Given the description of an element on the screen output the (x, y) to click on. 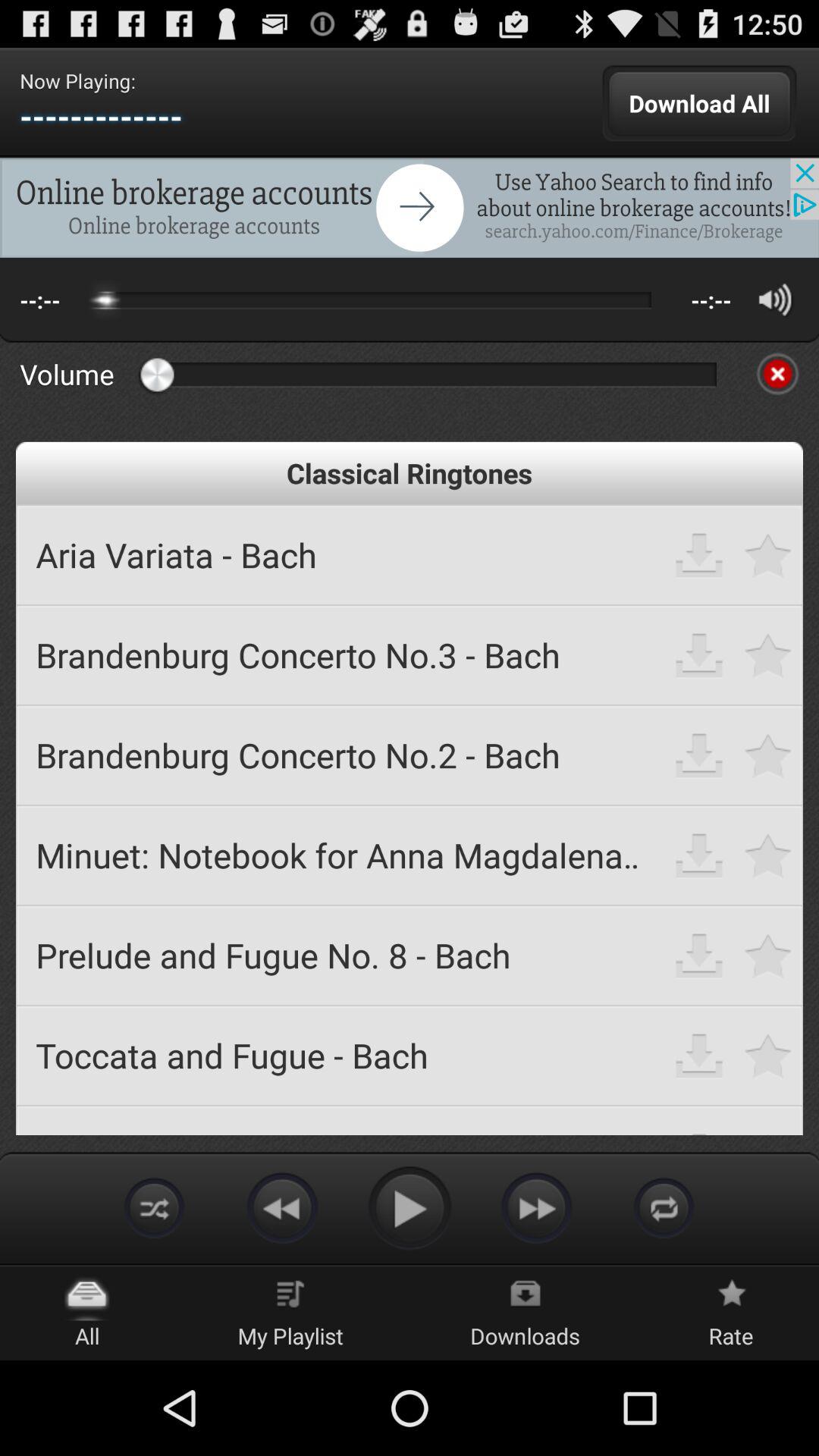
add to bookmark button (768, 754)
